Given the description of an element on the screen output the (x, y) to click on. 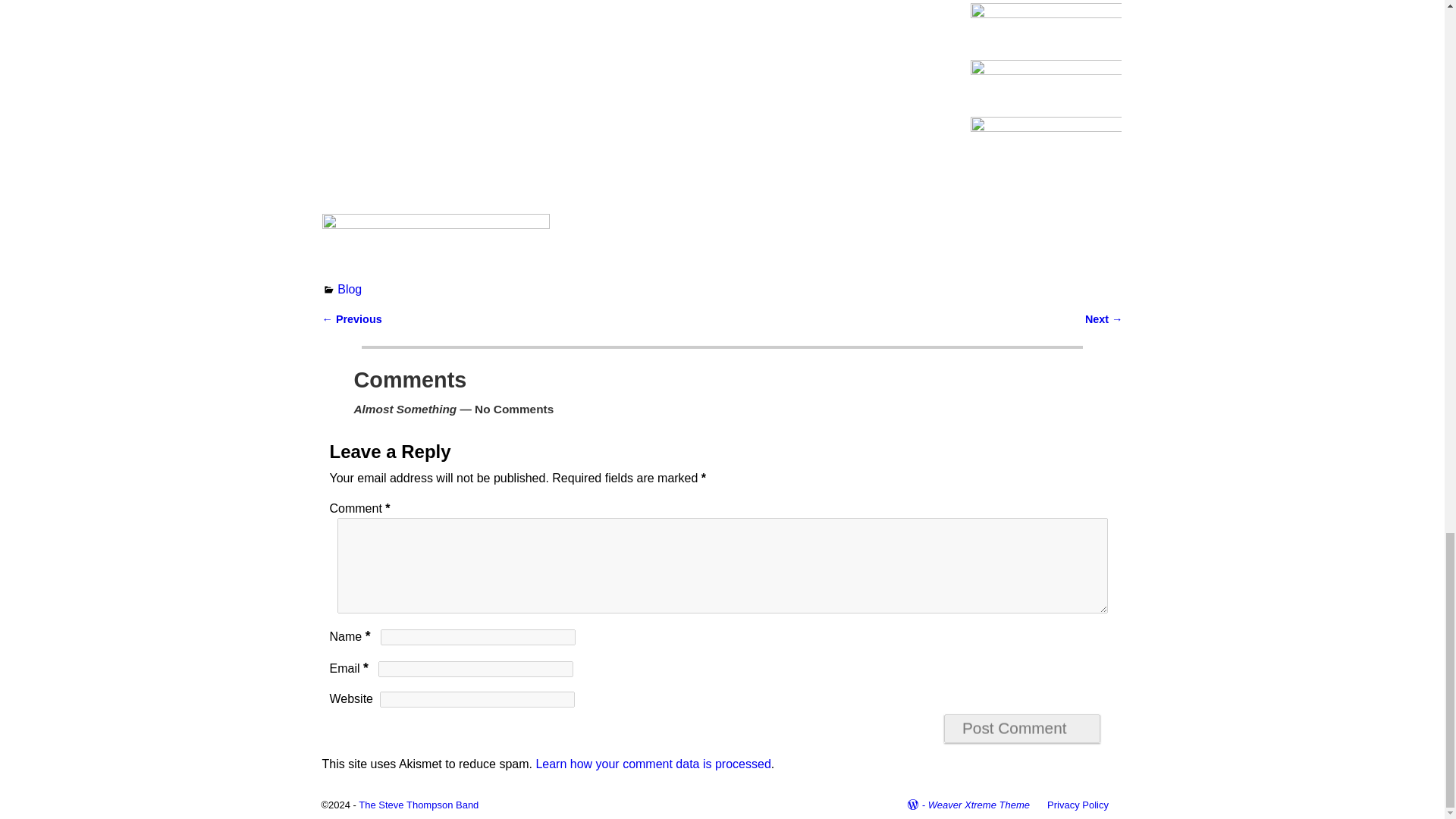
Post Comment (1021, 728)
Weaver Xtreme Theme (978, 804)
The Steve Thompson Band (418, 804)
- (917, 804)
Proudly powered by WordPress (917, 804)
"I Searched And Never Found" (633, 89)
Weaver Xtreme Theme (978, 804)
Learn how your comment data is processed (652, 763)
The Steve Thompson Band (418, 804)
Post Comment (1021, 728)
Blog (349, 288)
Privacy Policy (1078, 804)
